Given the description of an element on the screen output the (x, y) to click on. 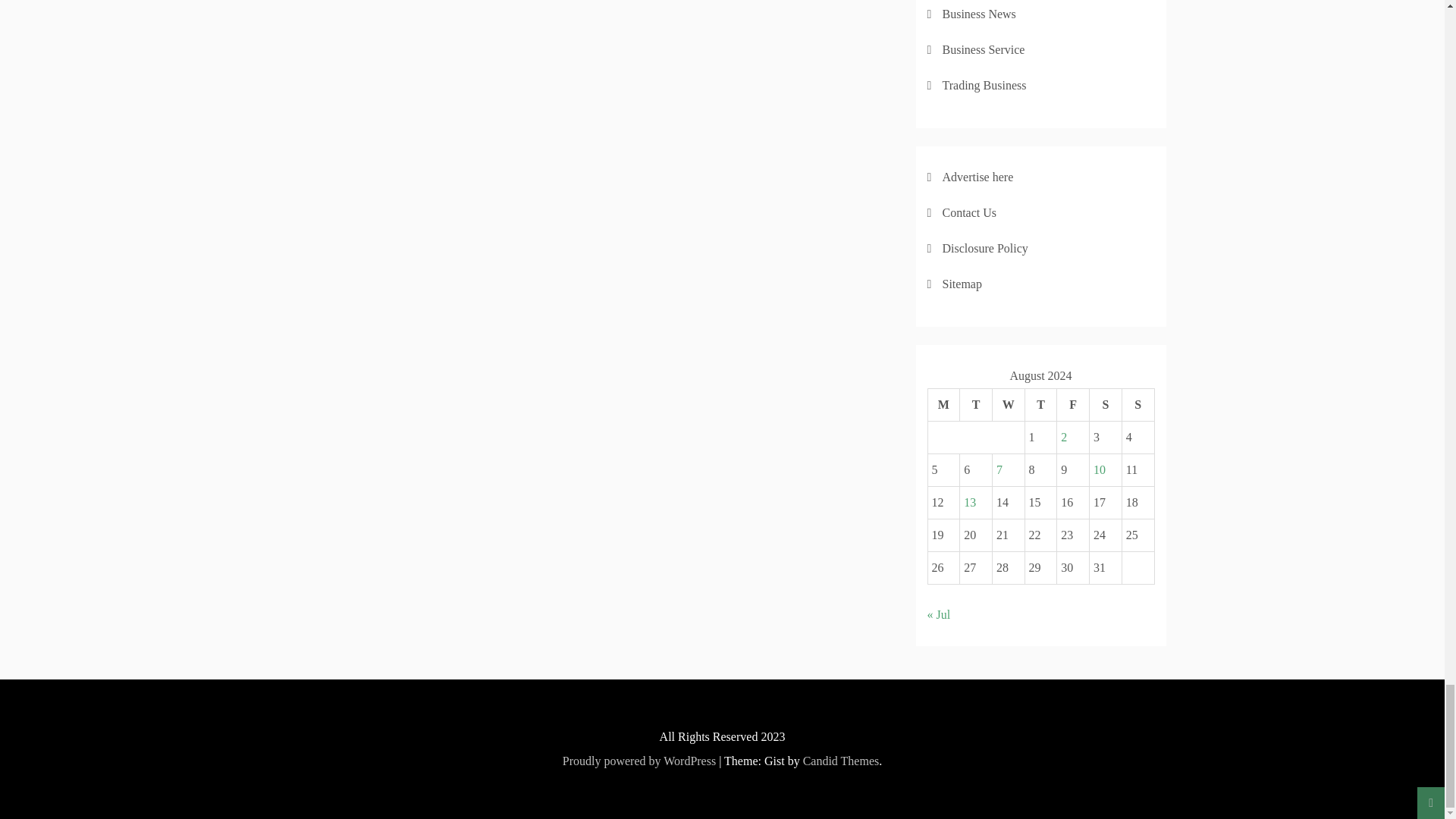
Friday (1073, 404)
Wednesday (1008, 404)
Sunday (1137, 404)
Thursday (1041, 404)
Monday (943, 404)
Saturday (1105, 404)
Tuesday (975, 404)
